Given the description of an element on the screen output the (x, y) to click on. 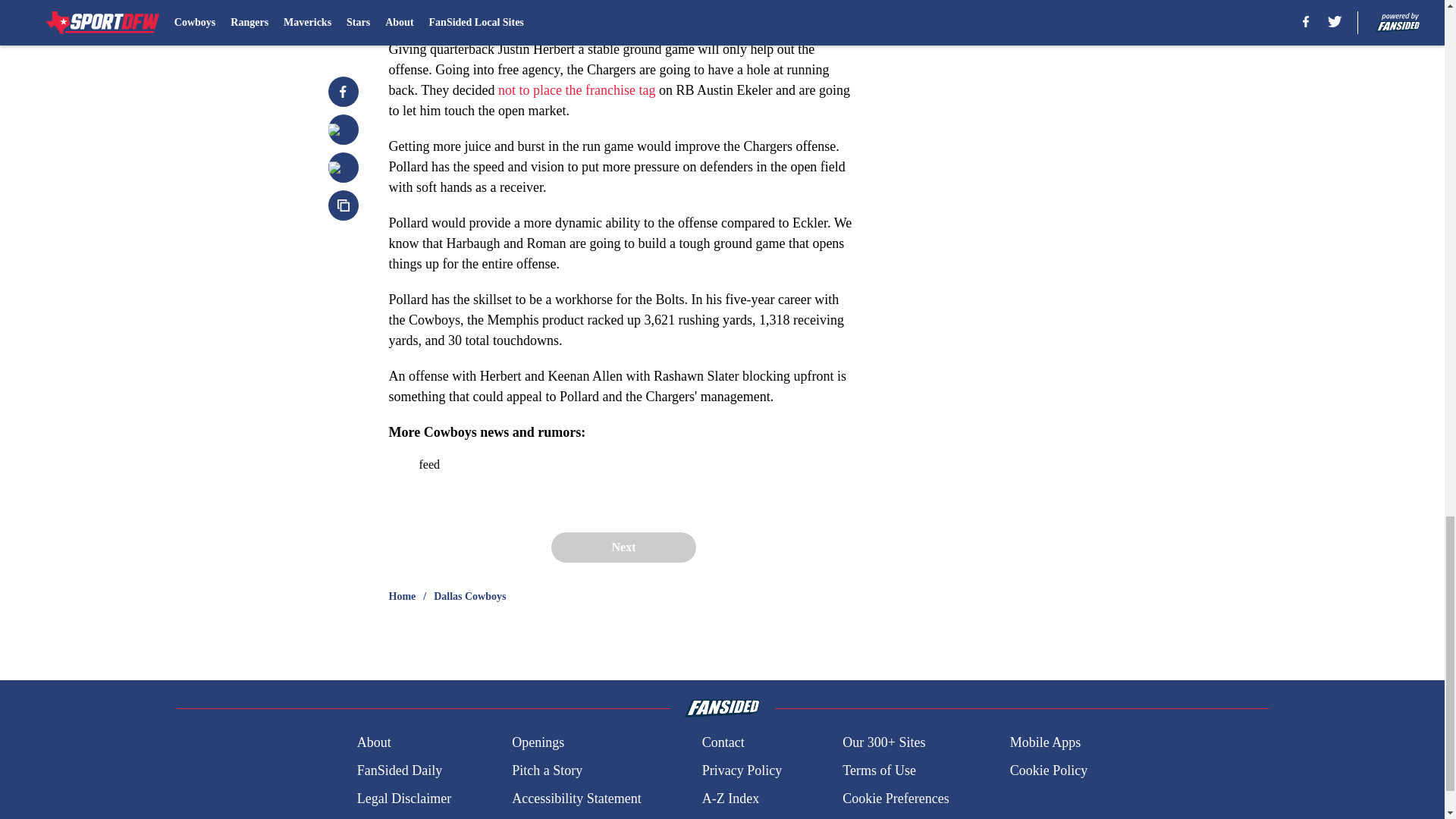
FanSided Daily (399, 770)
Openings (538, 742)
not to place the franchise tag (576, 89)
Accessibility Statement (576, 798)
Mobile Apps (1045, 742)
Legal Disclaimer (403, 798)
About (373, 742)
Terms of Use (879, 770)
Pitch a Story (547, 770)
A-Z Index (729, 798)
